Given the description of an element on the screen output the (x, y) to click on. 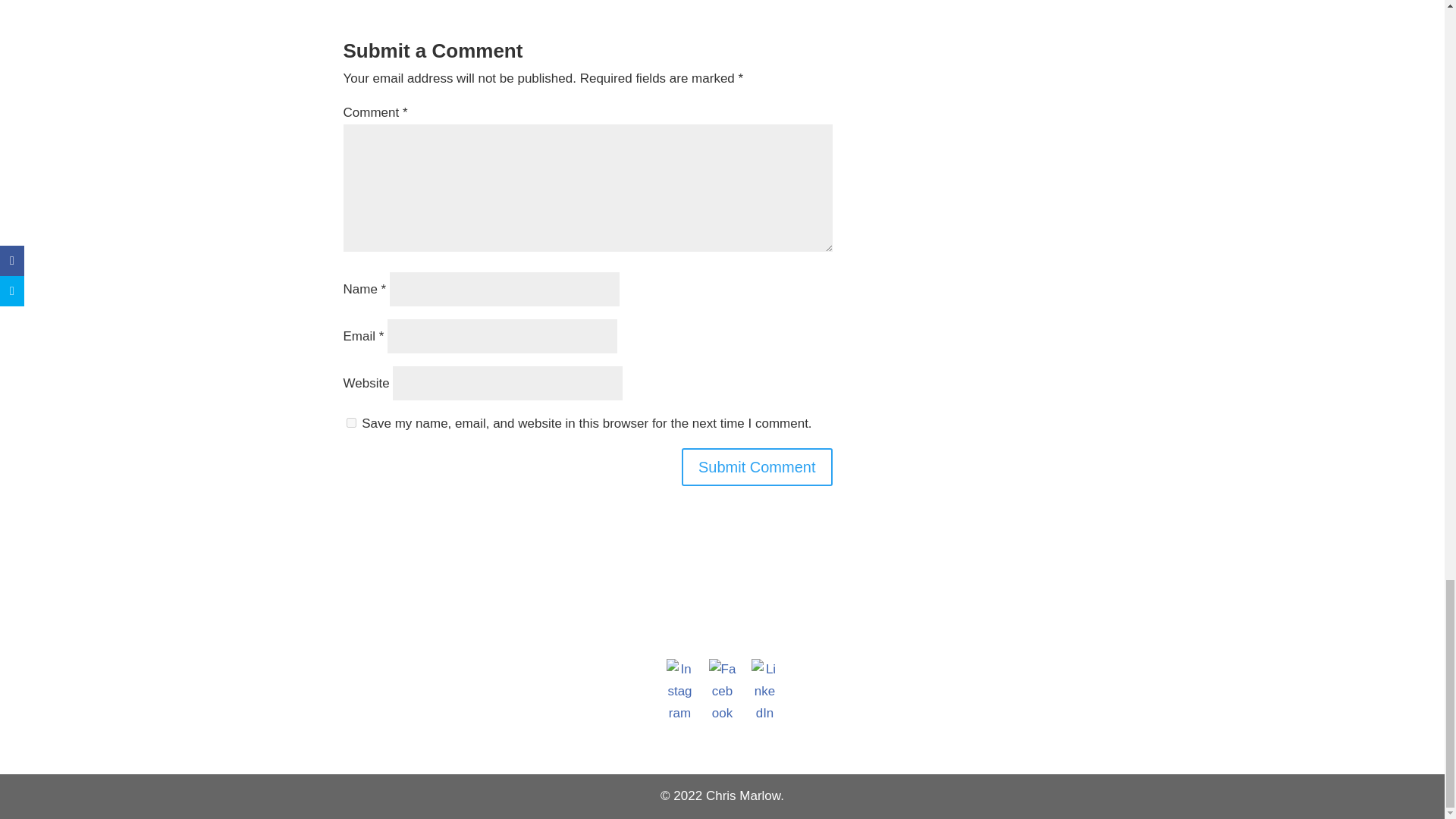
Submit Comment (756, 466)
yes (350, 422)
Submit Comment (756, 466)
